Given the description of an element on the screen output the (x, y) to click on. 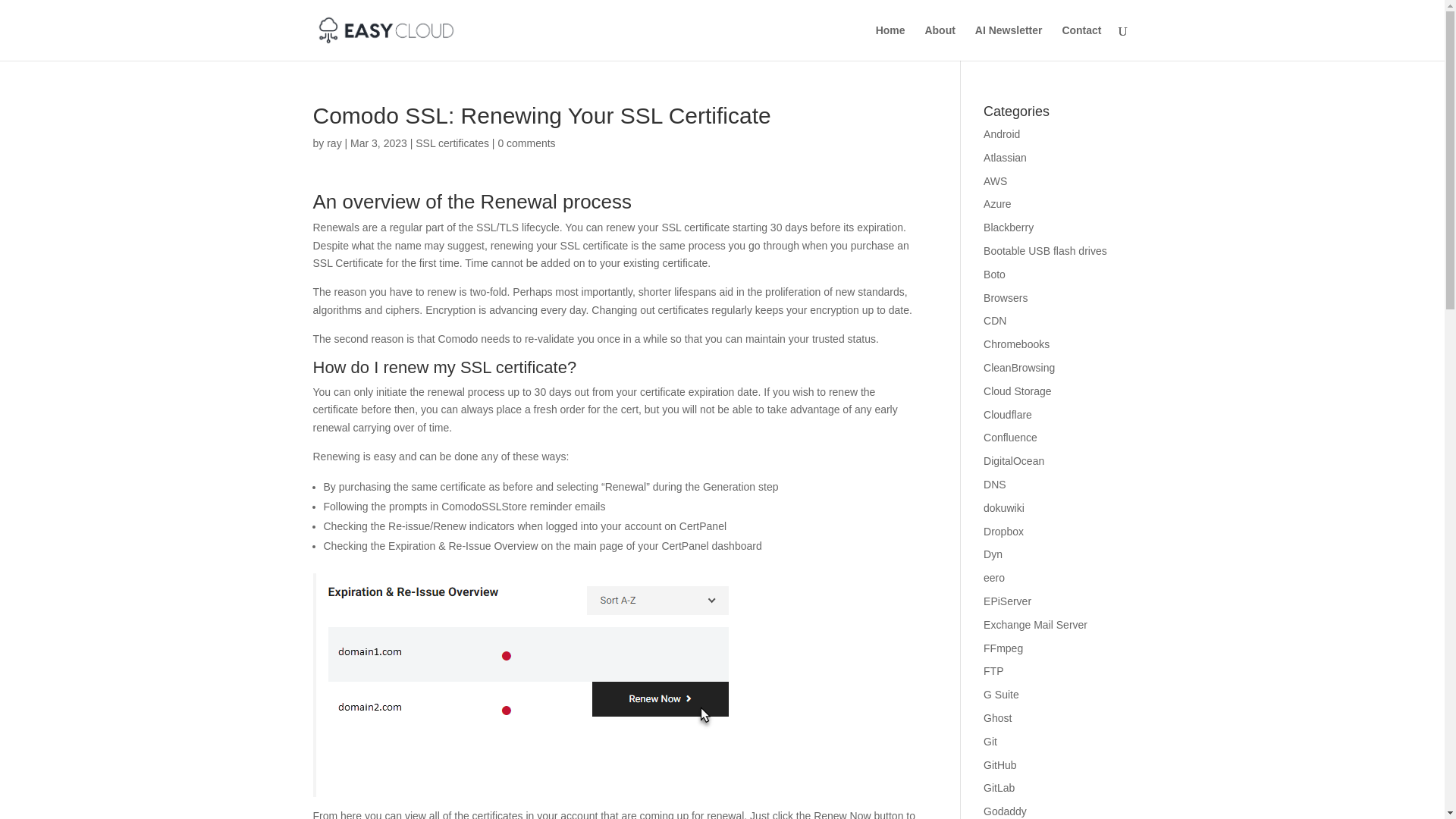
Atlassian (1005, 157)
Azure (997, 203)
AI Newsletter (1008, 42)
Browsers (1005, 297)
Android (1002, 133)
eero (994, 577)
Cloudflare (1008, 414)
DNS (995, 484)
Boto (995, 274)
Cloud Storage (1017, 390)
